Given the description of an element on the screen output the (x, y) to click on. 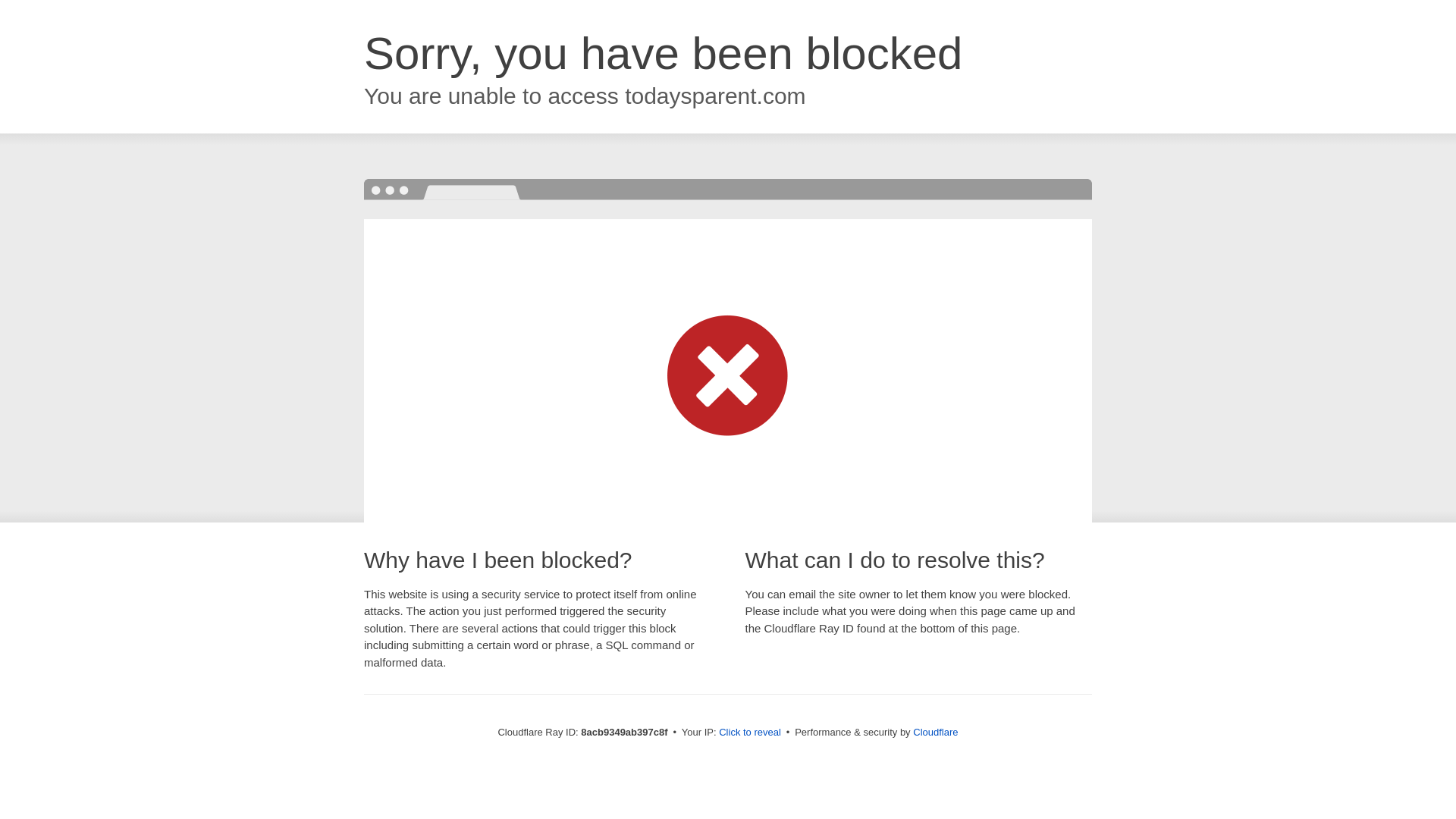
Click to reveal (749, 732)
Cloudflare (935, 731)
